Given the description of an element on the screen output the (x, y) to click on. 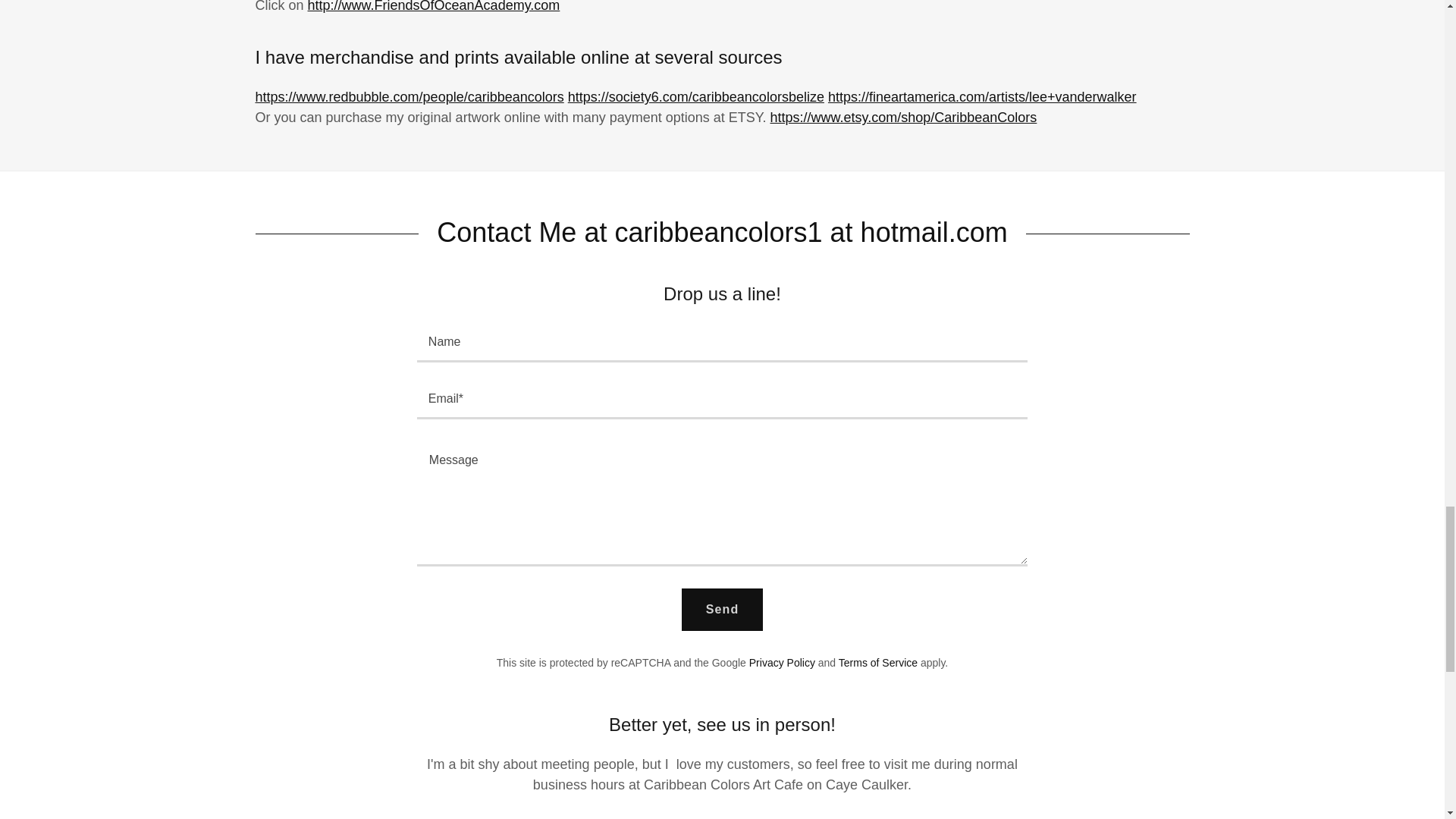
Privacy Policy (782, 662)
Send (721, 609)
Terms of Service (877, 662)
